Given the description of an element on the screen output the (x, y) to click on. 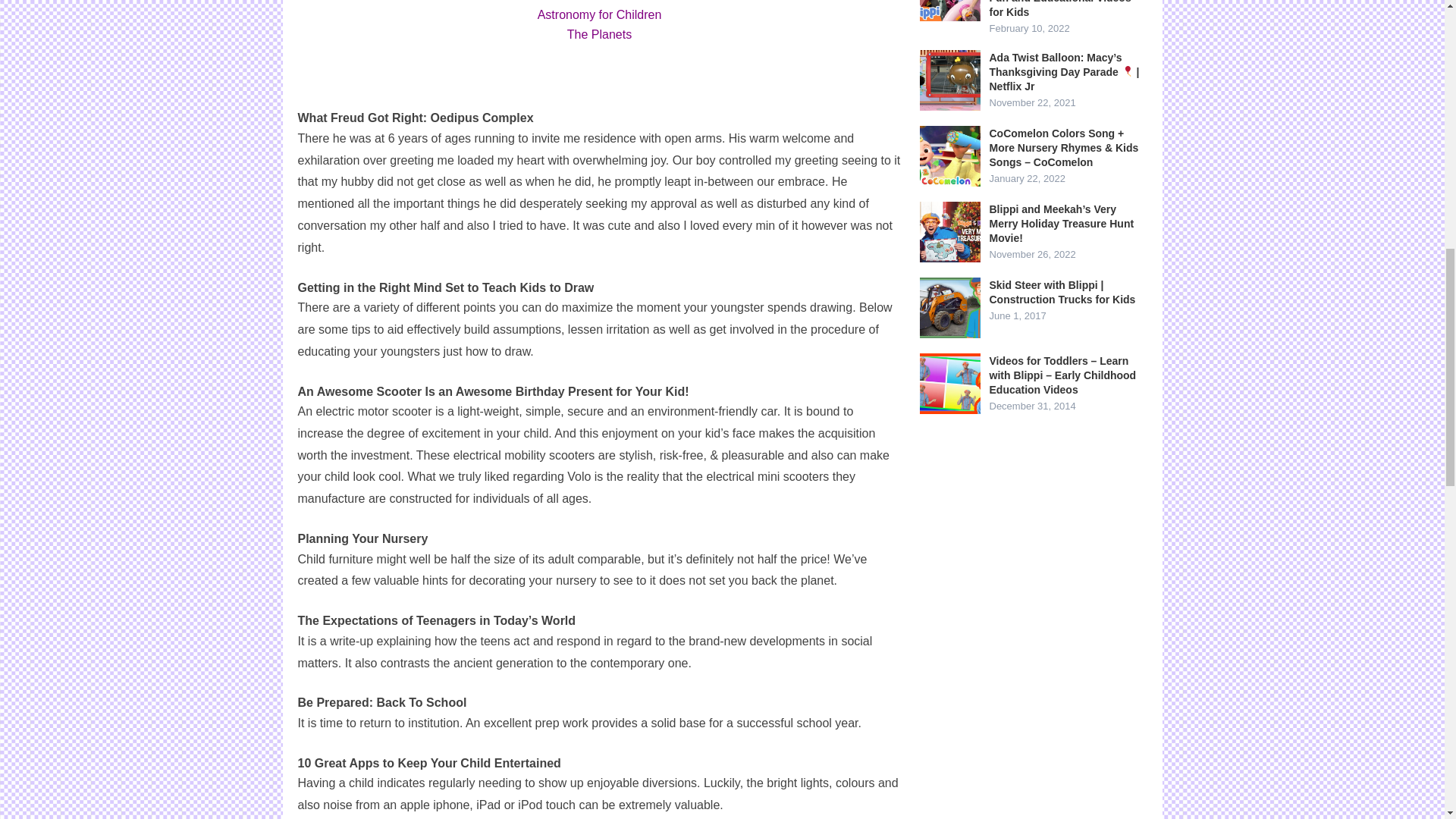
Astronomy for Children (599, 14)
The Planets (599, 33)
